Given the description of an element on the screen output the (x, y) to click on. 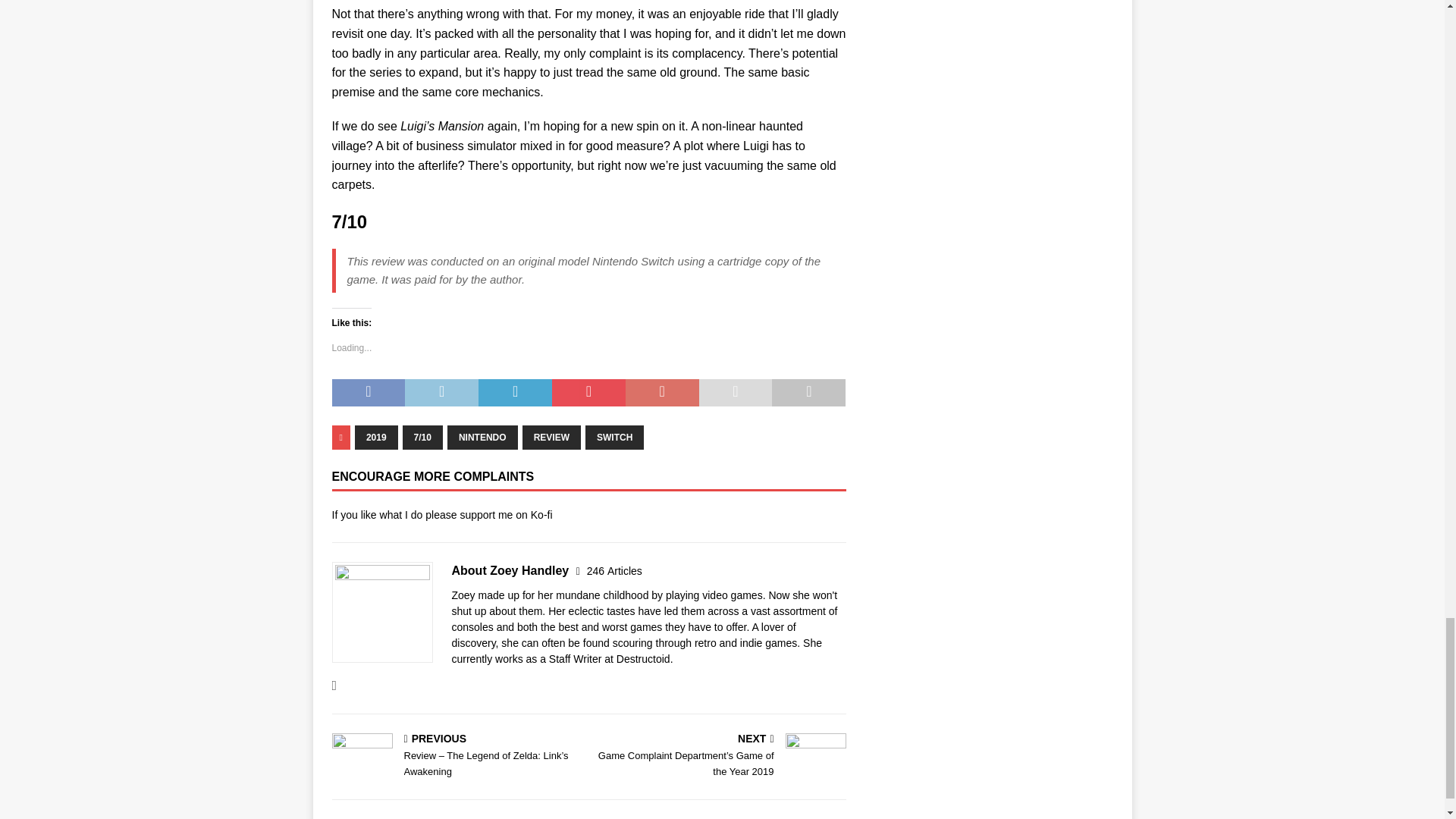
246 Articles (614, 571)
REVIEW (551, 437)
More articles written by Zoey Handley' (614, 571)
SWITCH (614, 437)
NINTENDO (482, 437)
2019 (376, 437)
